Given the description of an element on the screen output the (x, y) to click on. 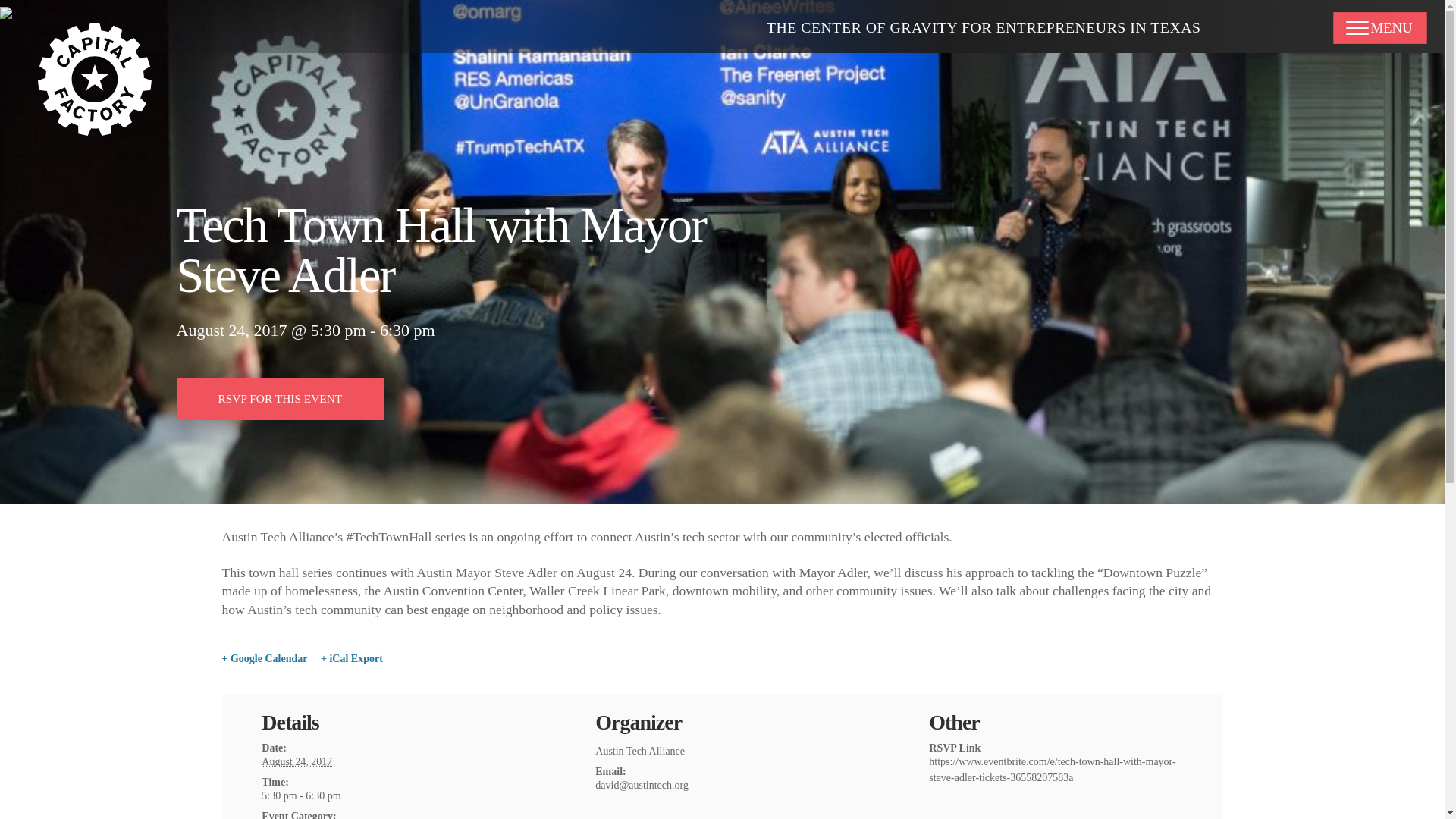
Add to Google Calendar (264, 658)
RSVP FOR THIS EVENT (280, 398)
Download .ics file (351, 658)
Austin Tech Alliance (639, 750)
2017-08-24 (296, 761)
2017-08-24 (388, 795)
MENU (1383, 28)
Austin Tech Alliance (639, 750)
